Given the description of an element on the screen output the (x, y) to click on. 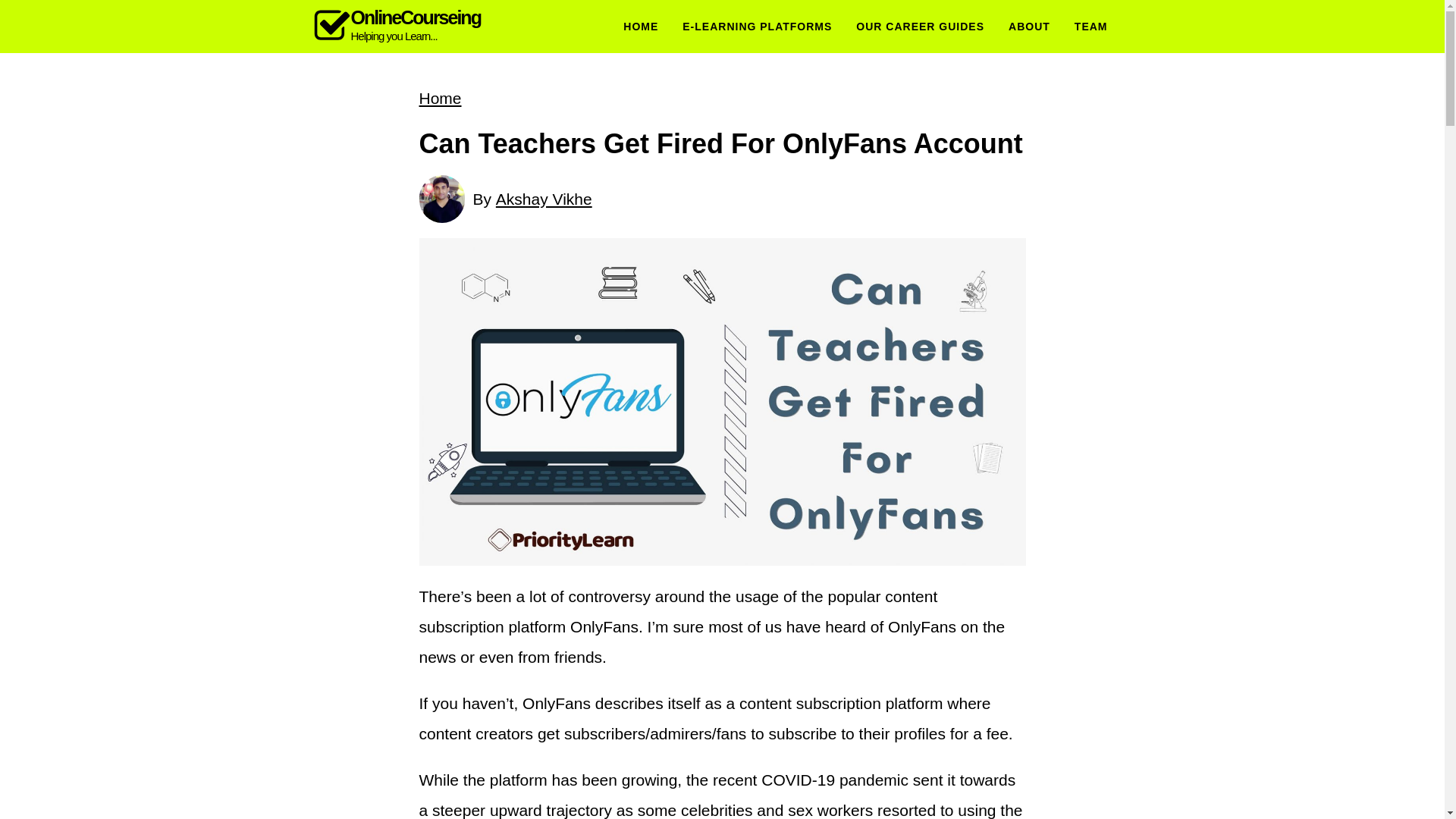
TEAM (1090, 26)
OUR CAREER GUIDES (919, 26)
E-LEARNING PLATFORMS (756, 26)
Akshay Vikhe (396, 26)
ABOUT (544, 199)
HOME (1028, 26)
Home (640, 26)
